Given the description of an element on the screen output the (x, y) to click on. 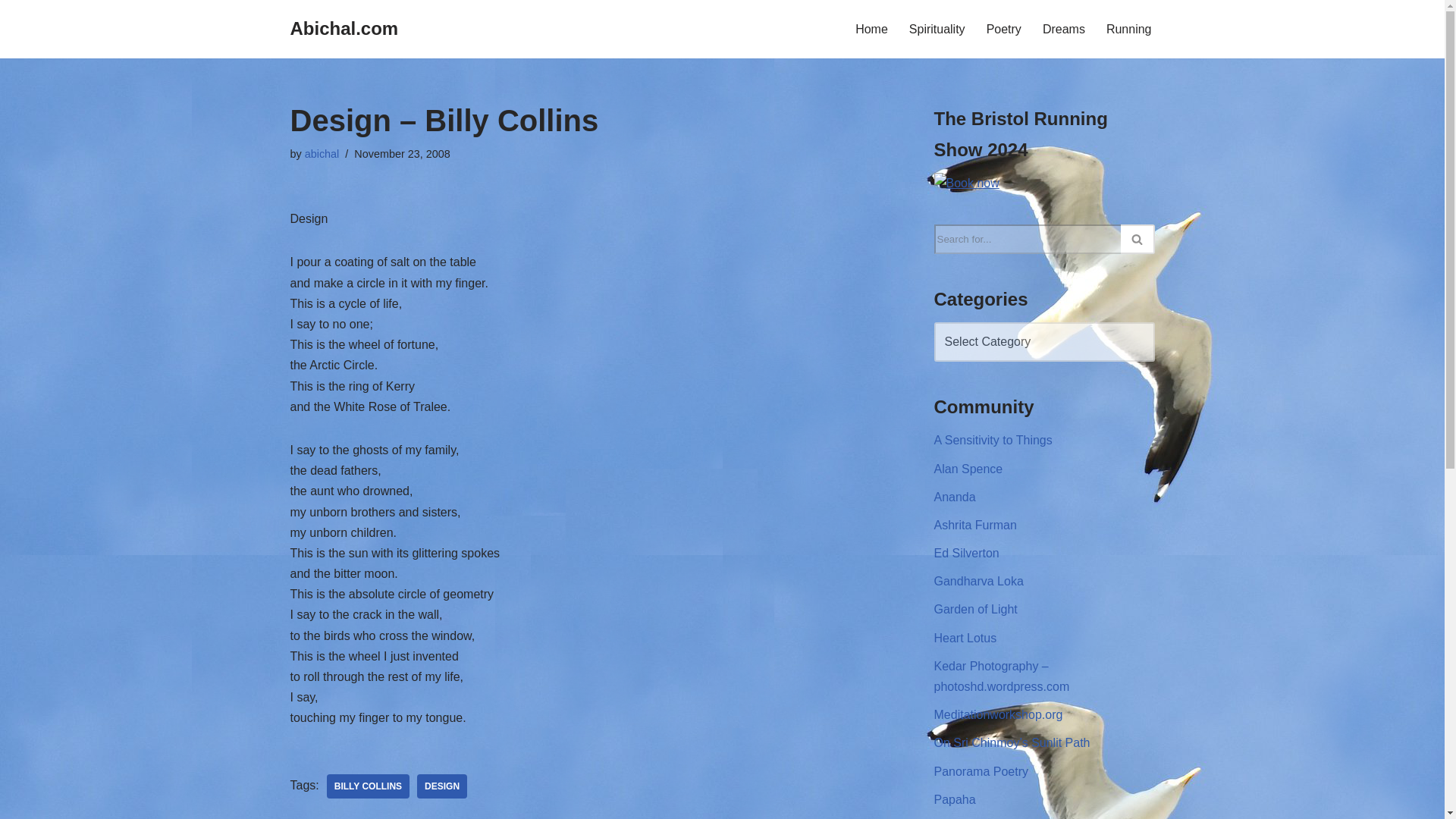
Billy Collins (367, 785)
Garden of Light (975, 608)
Panorama Poetry (981, 771)
Spirituality (936, 28)
Poetry (1004, 28)
Chain of gift shops in Ottawa, Canada (975, 608)
Alan Spence (968, 468)
Design (441, 785)
Ashrita Furman (975, 524)
abichal (321, 153)
Papaha (954, 799)
BILLY COLLINS (367, 785)
Ed Silverton (966, 553)
A Sensitivity to Things (993, 440)
Ananda (954, 496)
